Given the description of an element on the screen output the (x, y) to click on. 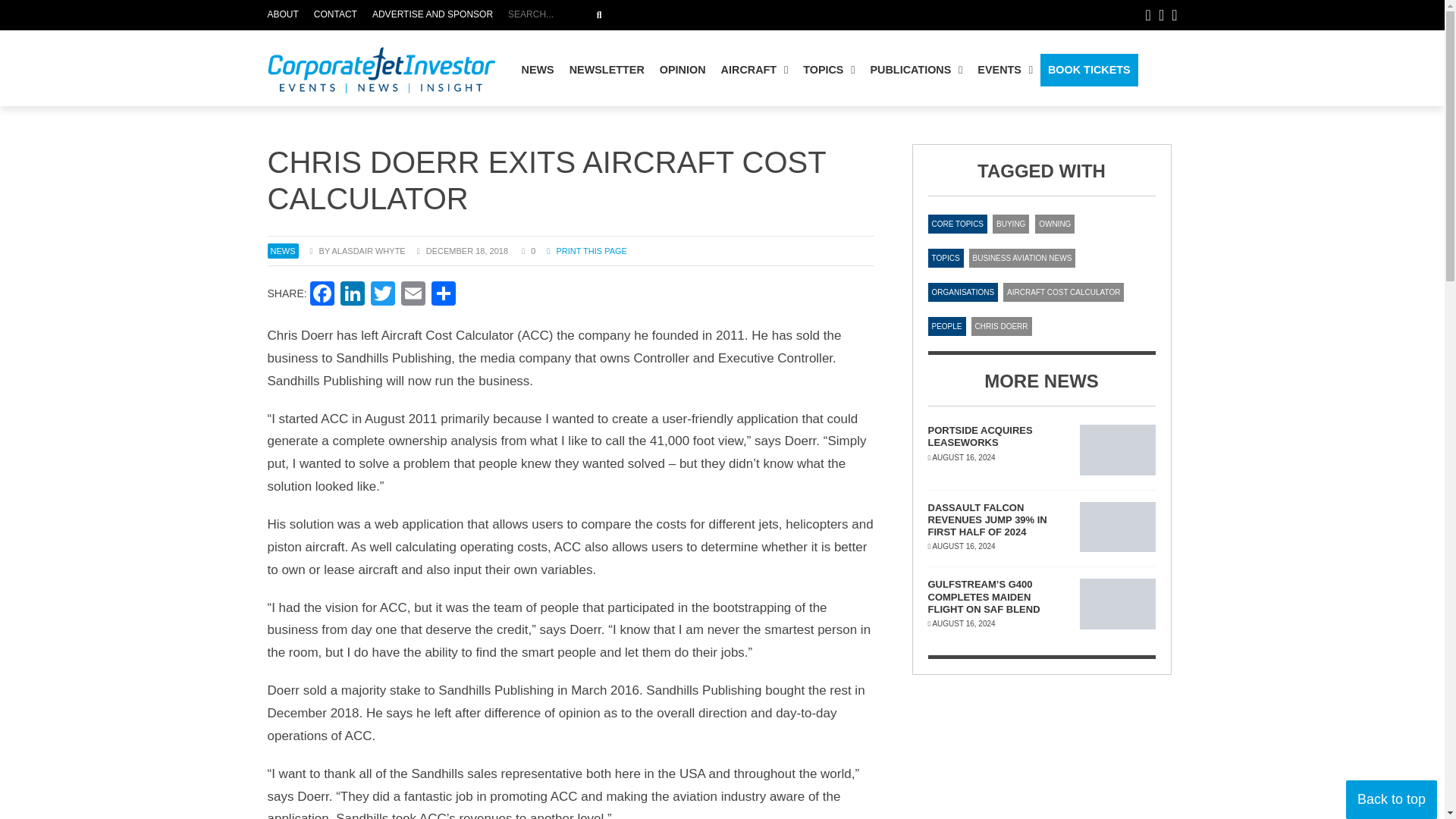
ADVERTISE AND SPONSOR (432, 15)
NEWS (537, 70)
OPINION (682, 70)
AIRCRAFT (754, 70)
EVENTS (1005, 70)
NEWSLETTER (607, 70)
CONTACT (335, 15)
PUBLICATIONS (915, 70)
LinkedIn (683, 15)
